Given the description of an element on the screen output the (x, y) to click on. 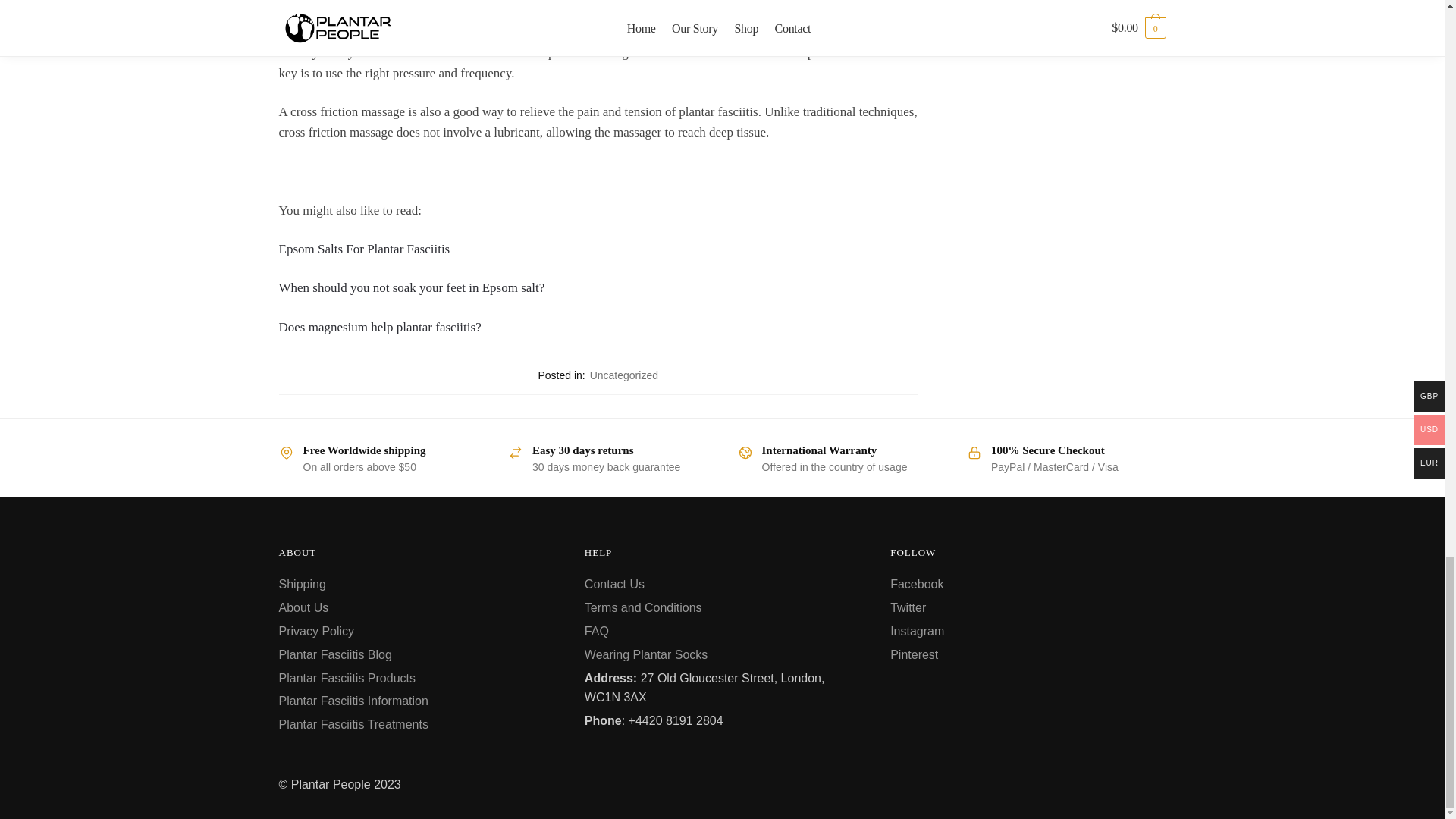
Instagram (916, 631)
Plantar Fasciitis Blog (335, 654)
Contact Us (615, 584)
Epsom Salts For Plantar Fasciitis (364, 248)
Wearing Plantar Socks (646, 654)
Twitter (907, 607)
Shipping (302, 584)
Plantar Fasciitis Treatments (353, 724)
Privacy Policy (317, 631)
About Us (304, 607)
Does magnesium help plantar fasciitis? (380, 327)
Terms and Conditions (643, 607)
Plantar Fasciitis Information (353, 700)
Pinterest (913, 654)
Facebook (916, 584)
